Given the description of an element on the screen output the (x, y) to click on. 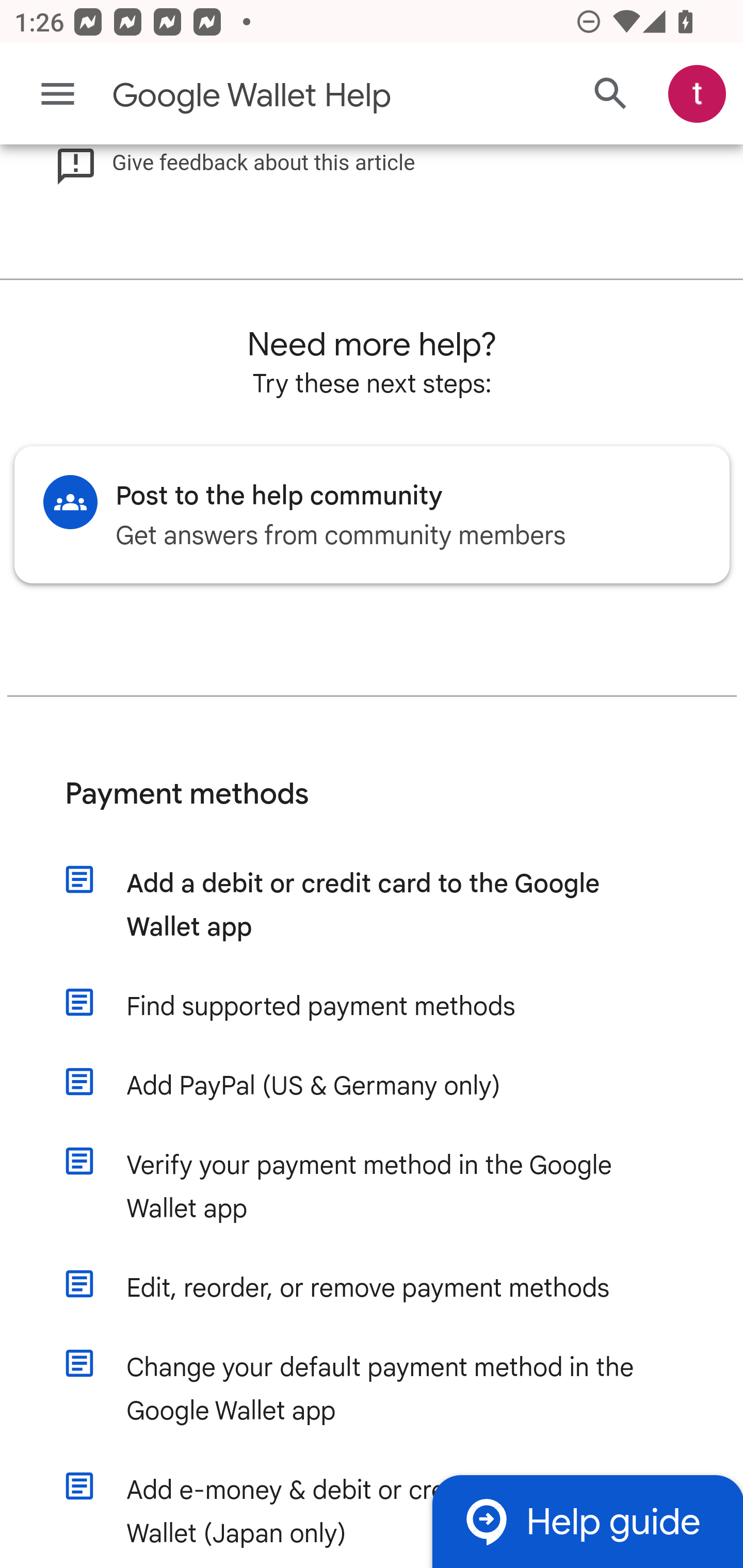
Main menu (58, 93)
Google Wallet Help (292, 96)
Search Help Center (611, 94)
Give feedback about this article (235, 165)
Payment methods Payment methods Payment methods (372, 809)
Find supported payment methods (390, 1007)
Add PayPal (US & Germany only) (390, 1087)
Edit, reorder, or remove payment methods (390, 1289)
Help guide (587, 1520)
